Given the description of an element on the screen output the (x, y) to click on. 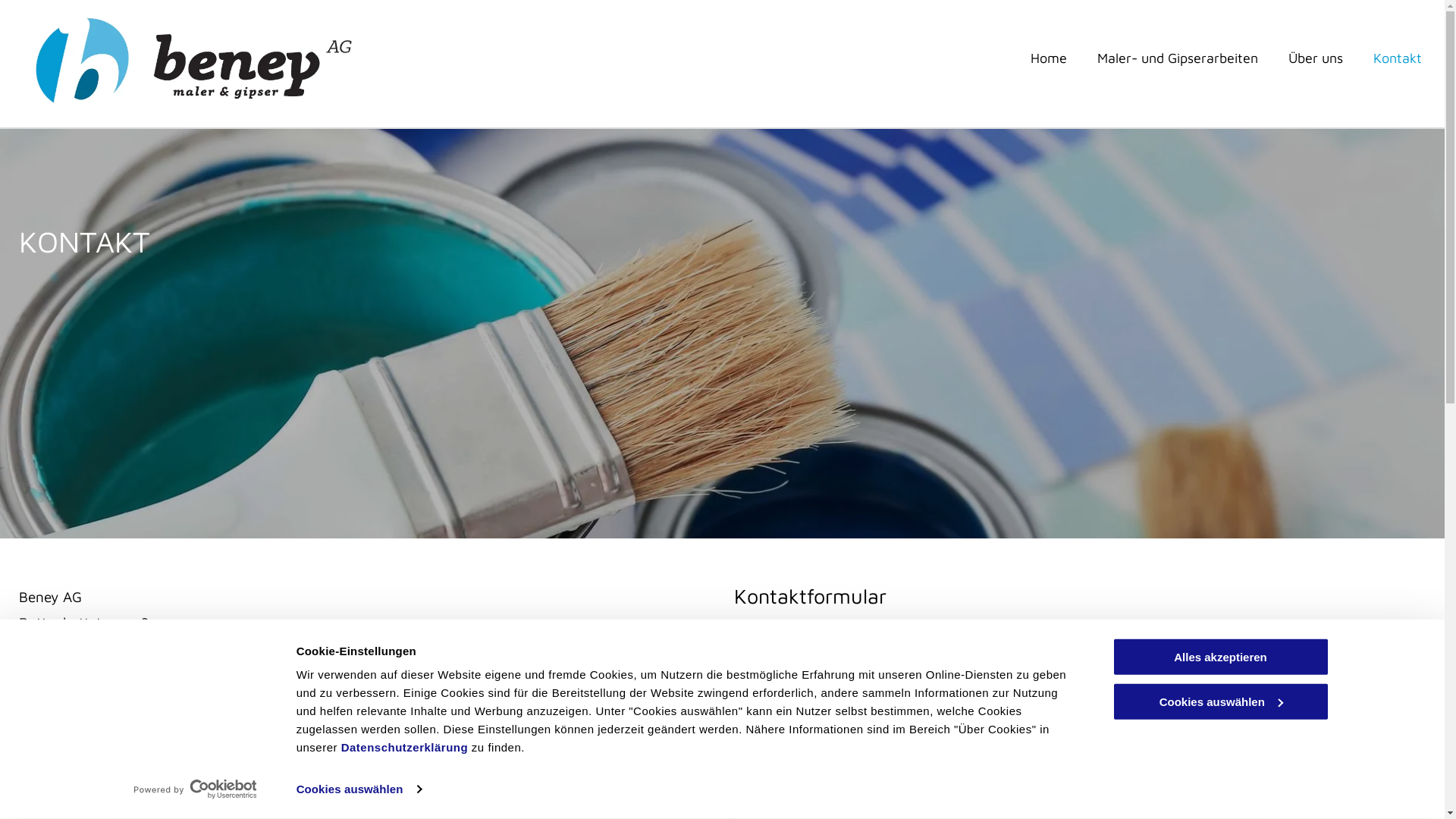
Kontakt Element type: text (1397, 57)
079 292 80 74 Element type: text (67, 730)
Home Element type: text (1048, 57)
079 363 34 50 Element type: text (67, 782)
Alles akzeptieren Element type: text (1219, 656)
Maler- und Gipserarbeiten Element type: text (1177, 57)
